Given the description of an element on the screen output the (x, y) to click on. 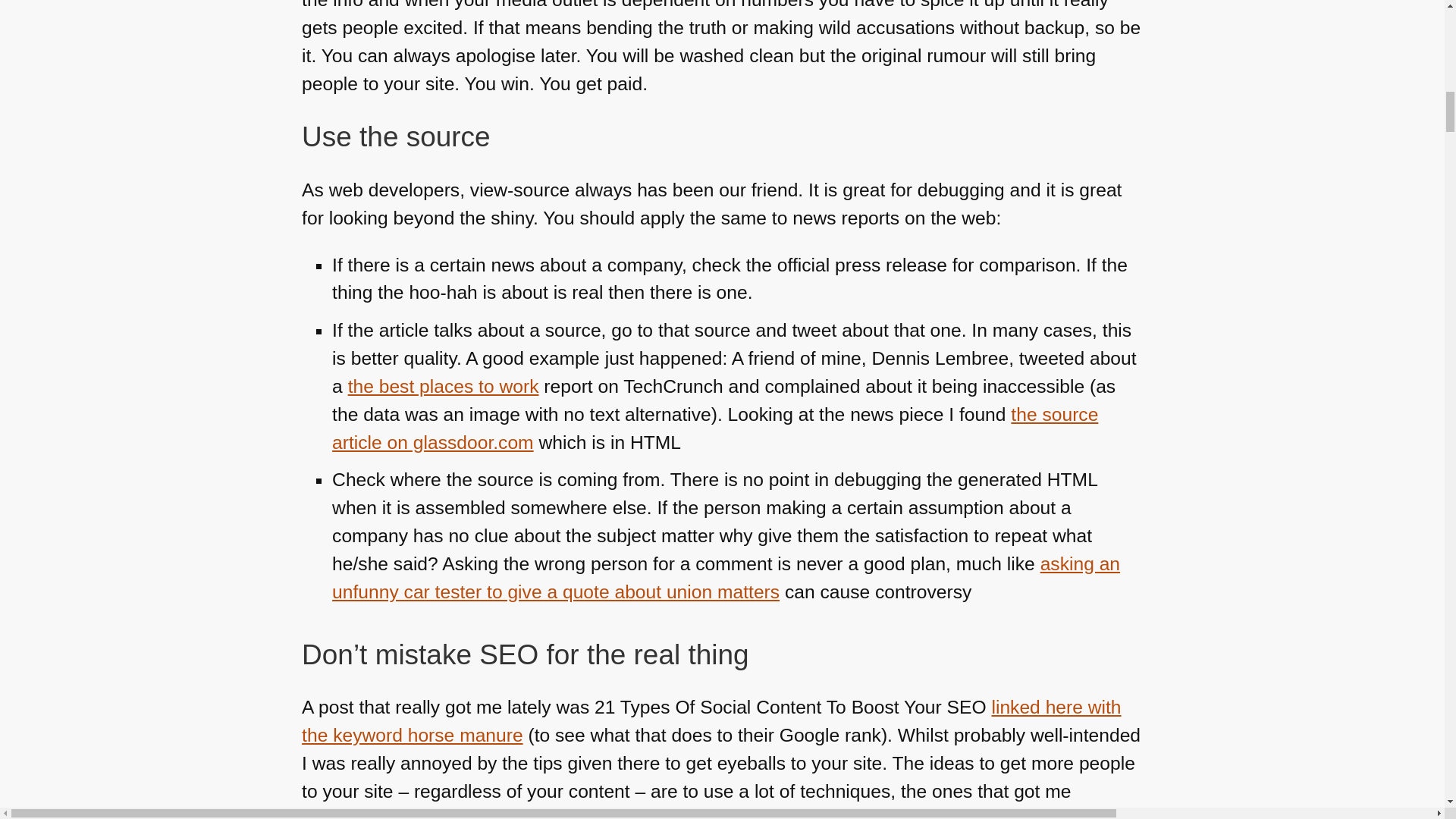
the source article on glassdoor.com (714, 428)
the best places to work (442, 385)
linked here with the keyword horse manure (711, 720)
